Given the description of an element on the screen output the (x, y) to click on. 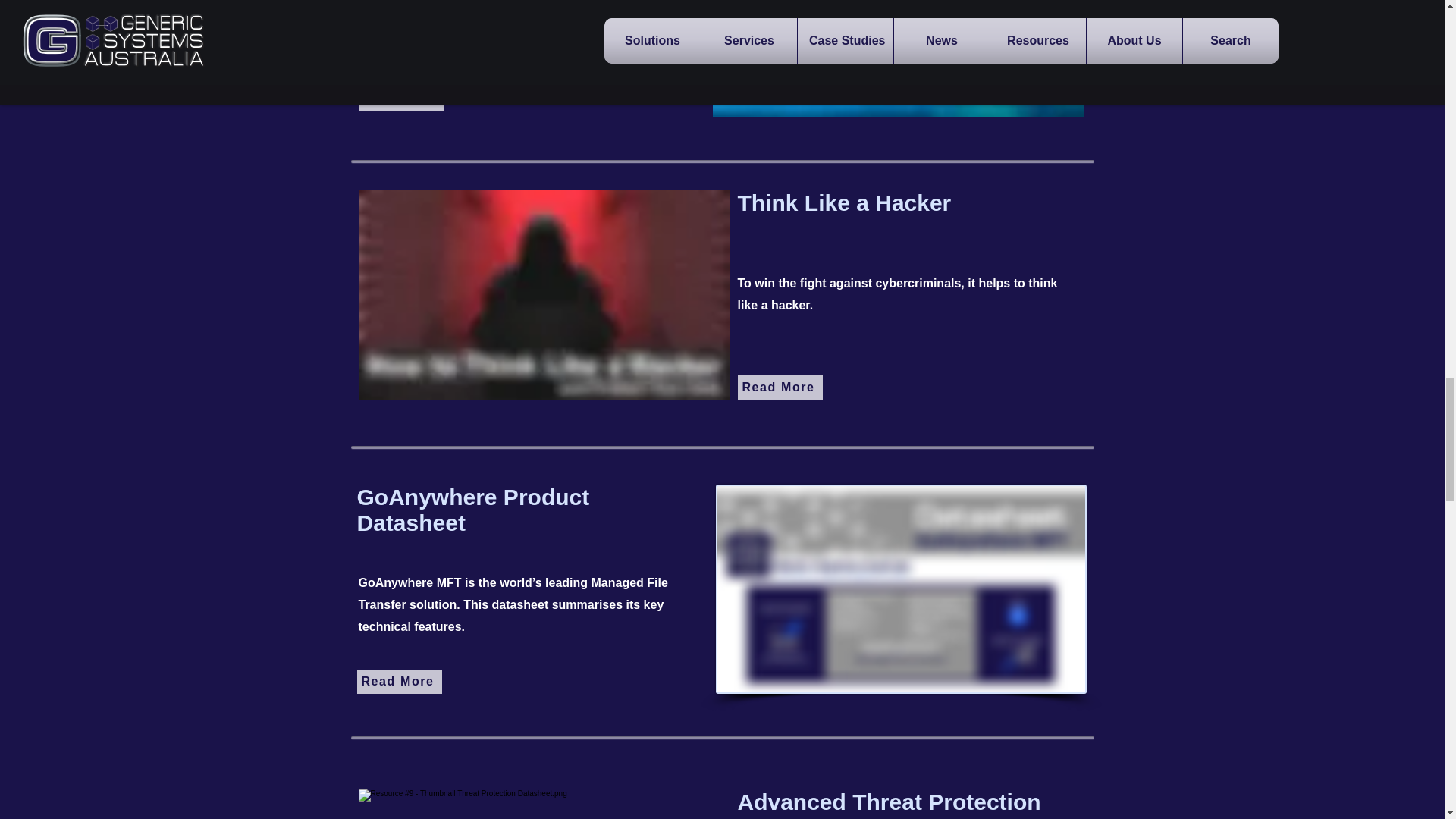
Read More (779, 387)
Read More (398, 681)
Read More (400, 98)
